Given the description of an element on the screen output the (x, y) to click on. 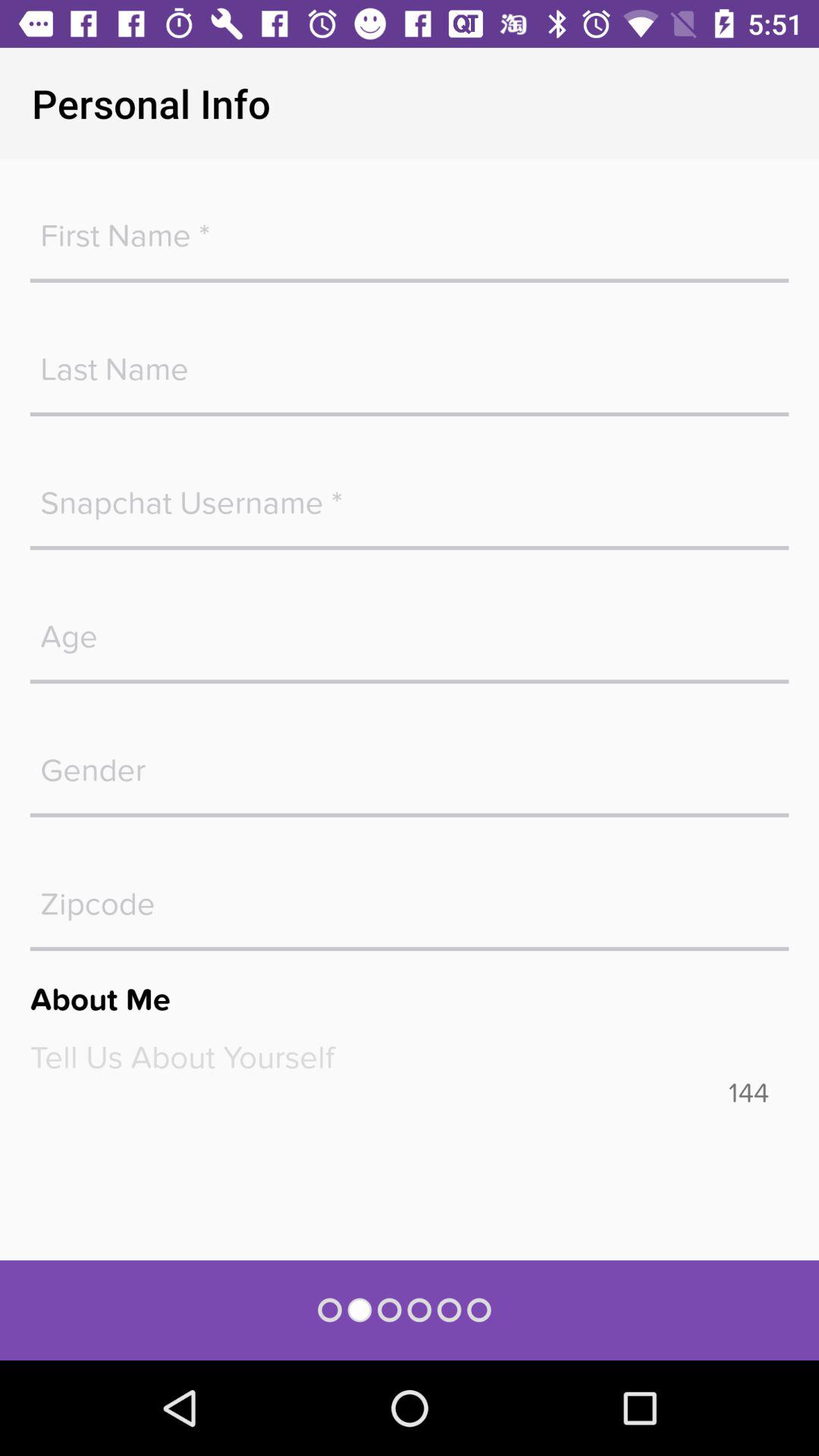
add about me information (409, 1057)
